Given the description of an element on the screen output the (x, y) to click on. 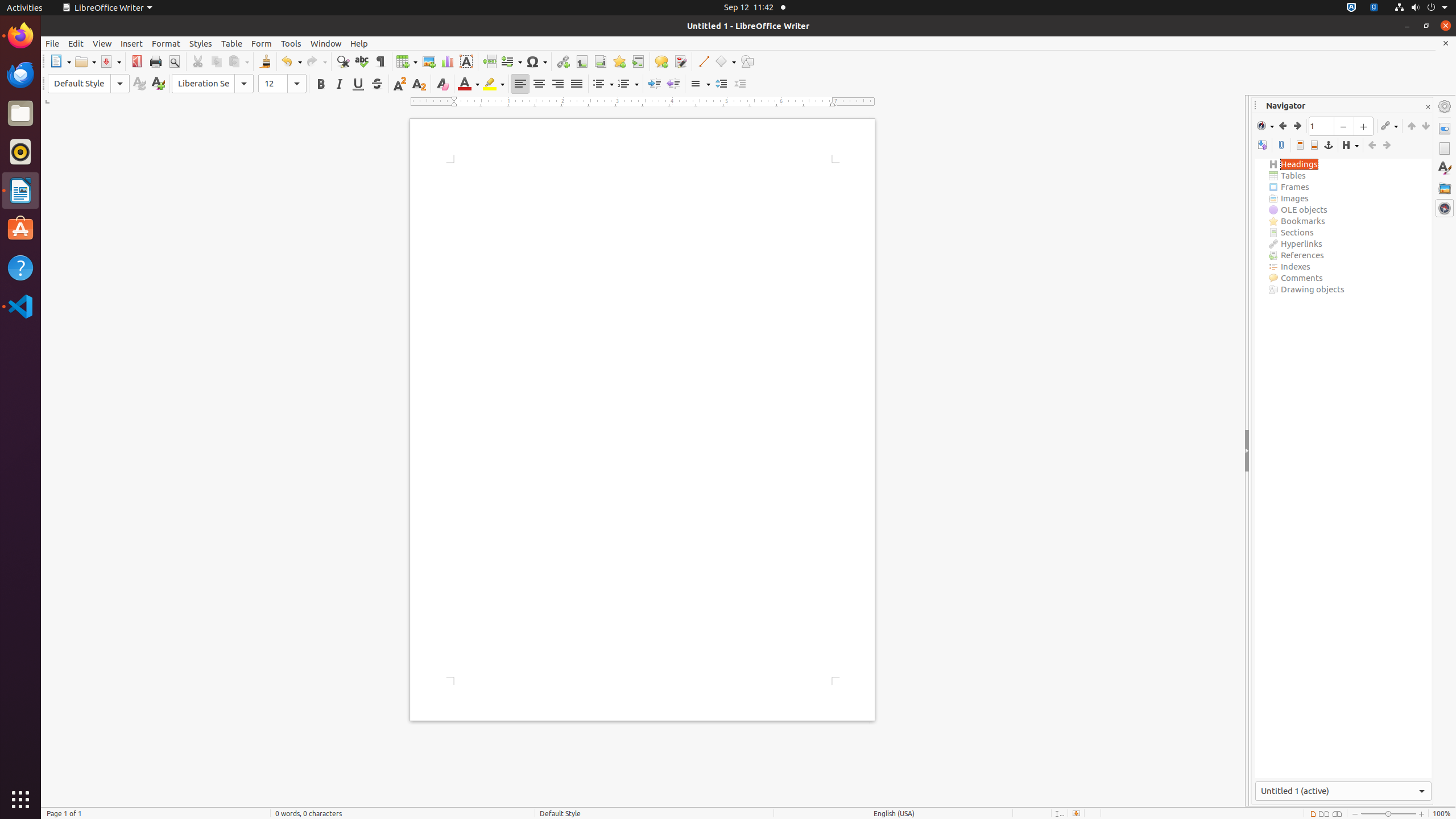
Demote Chapter Element type: push-button (1425, 125)
Close Sidebar Deck Element type: push-button (1427, 106)
Forward Element type: push-button (1296, 125)
Drag Mode Element type: push-button (1389, 125)
Table Element type: menu (231, 43)
